Given the description of an element on the screen output the (x, y) to click on. 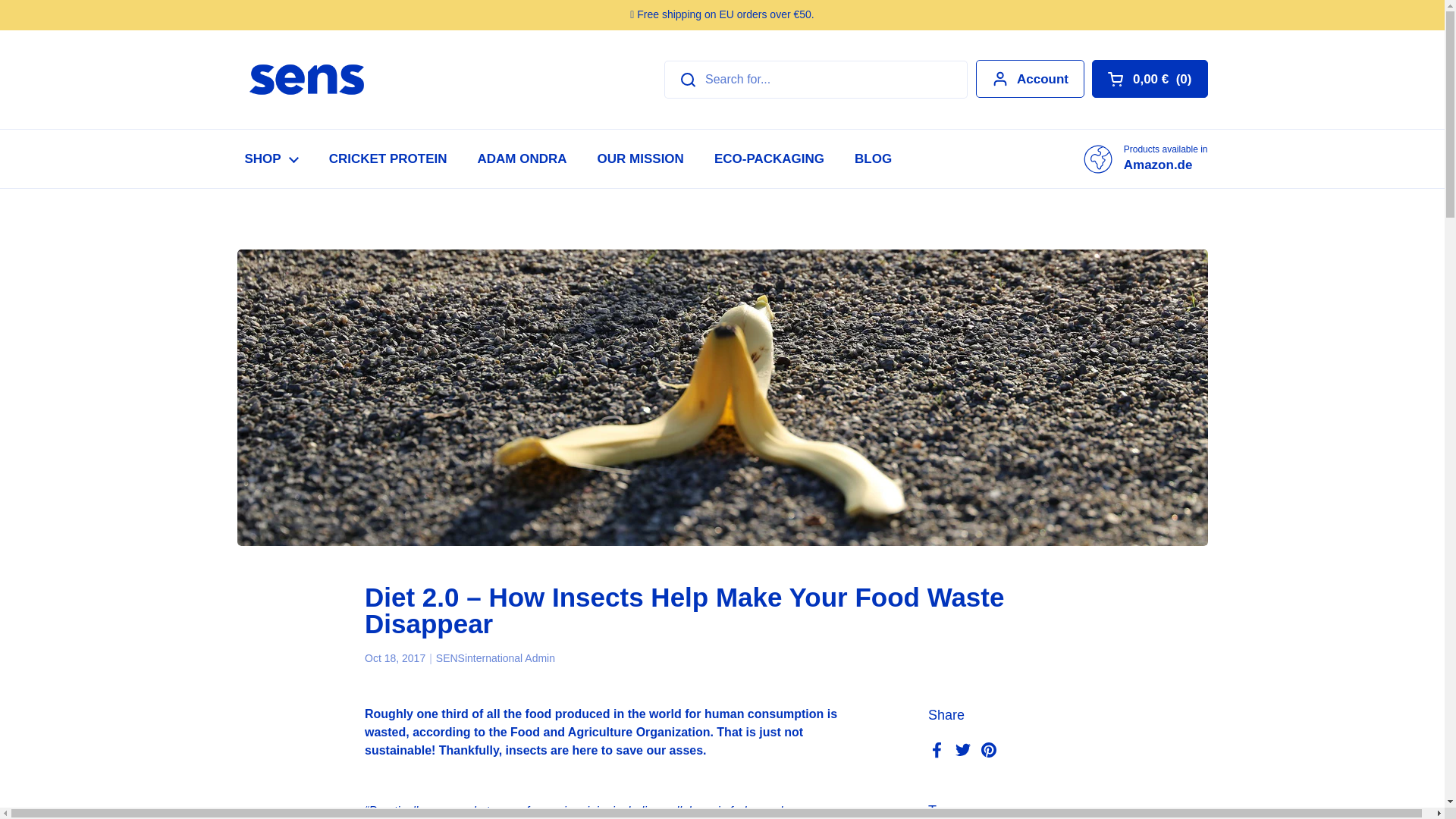
SHOP (270, 158)
ECO-PACKAGING (769, 158)
Open cart (1150, 78)
OUR MISSION (640, 158)
ADAM ONDRA (522, 158)
CRICKET PROTEIN (388, 158)
BLOG (873, 158)
Account (1029, 78)
EatSens.com (305, 79)
